Given the description of an element on the screen output the (x, y) to click on. 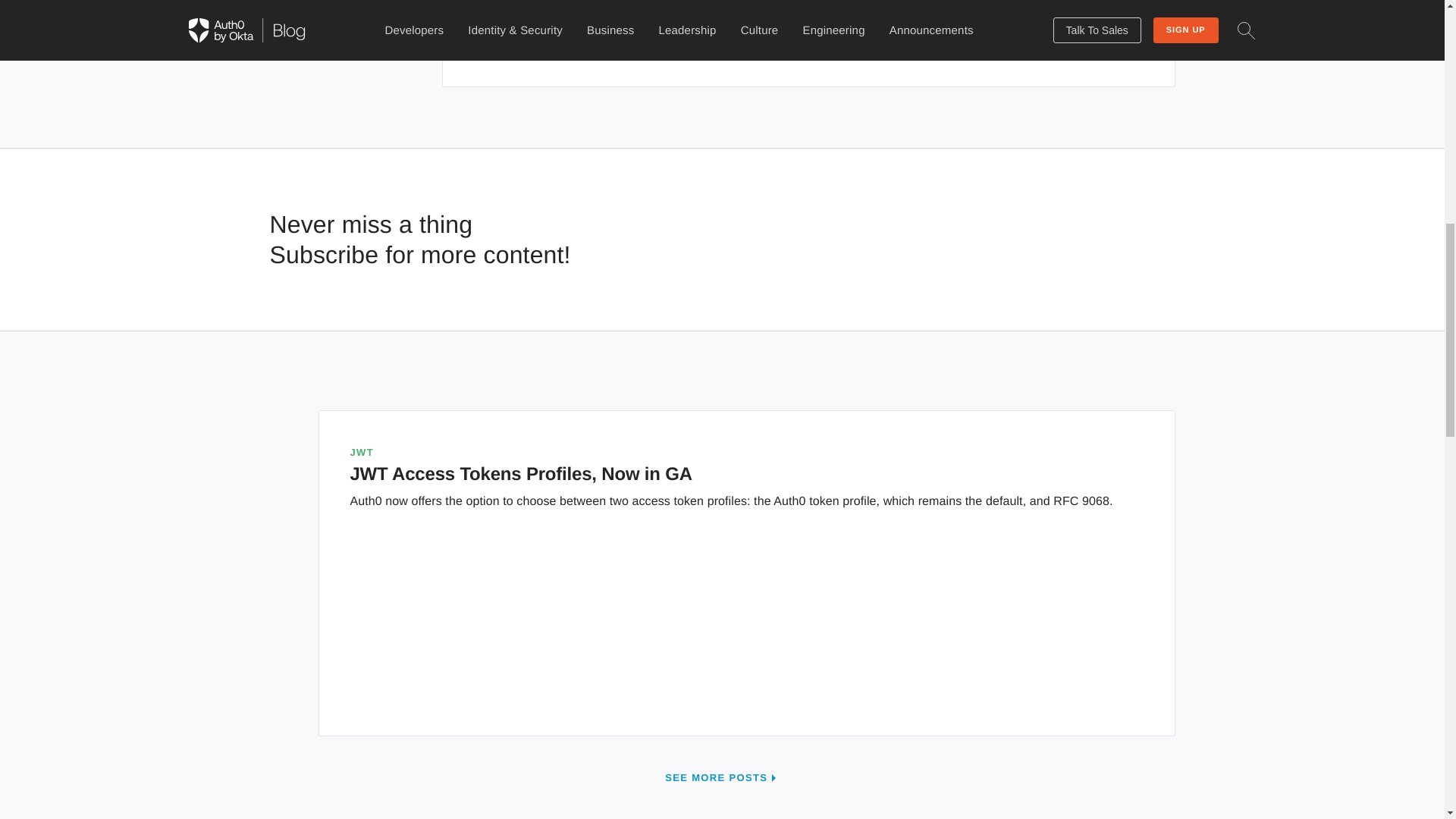
SEE MORE POSTS (721, 777)
